Given the description of an element on the screen output the (x, y) to click on. 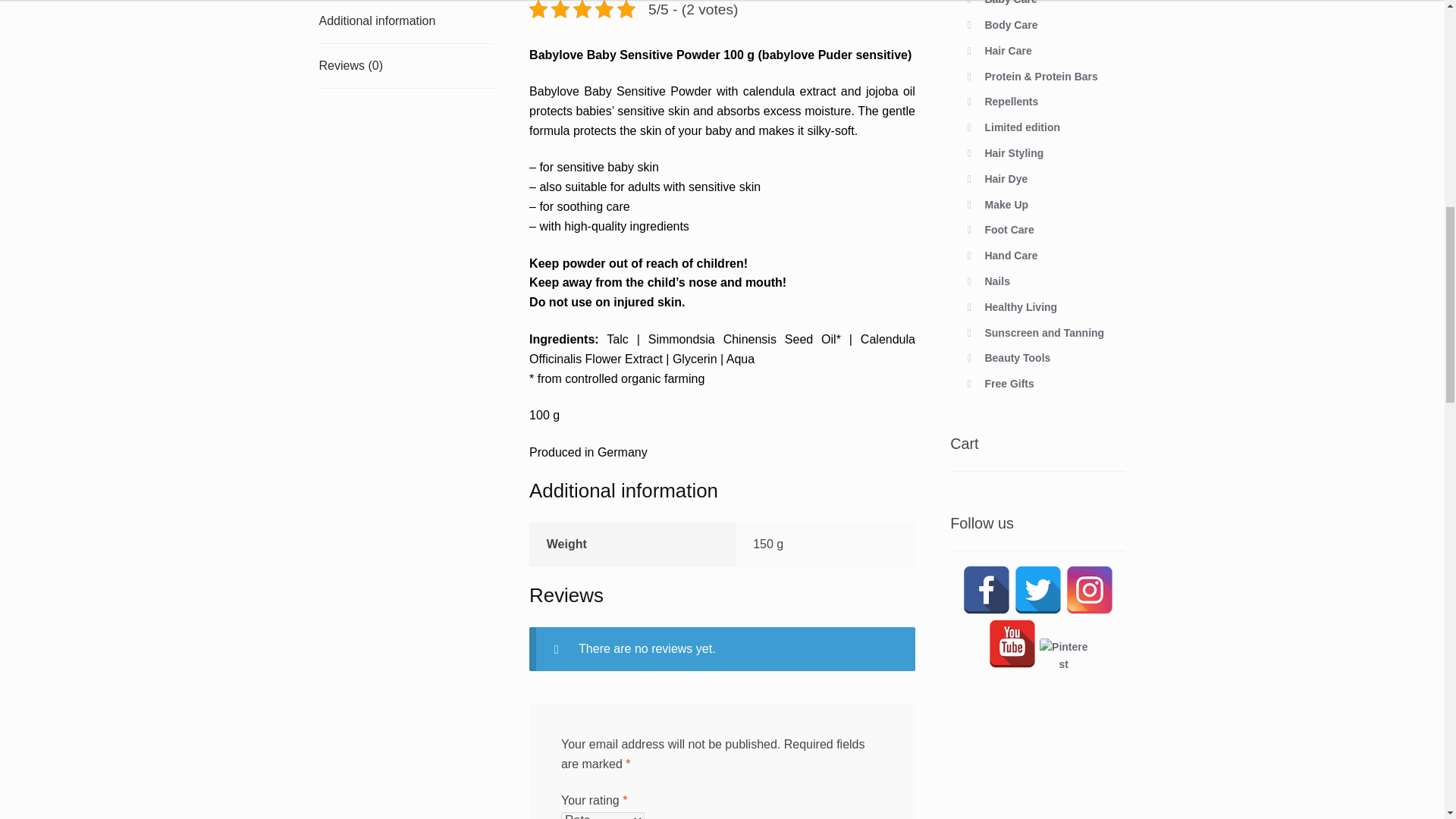
Instagram (1089, 589)
Twitter (1037, 589)
YouTube (1012, 643)
Pinterest (1063, 662)
Facebook (986, 589)
